Given the description of an element on the screen output the (x, y) to click on. 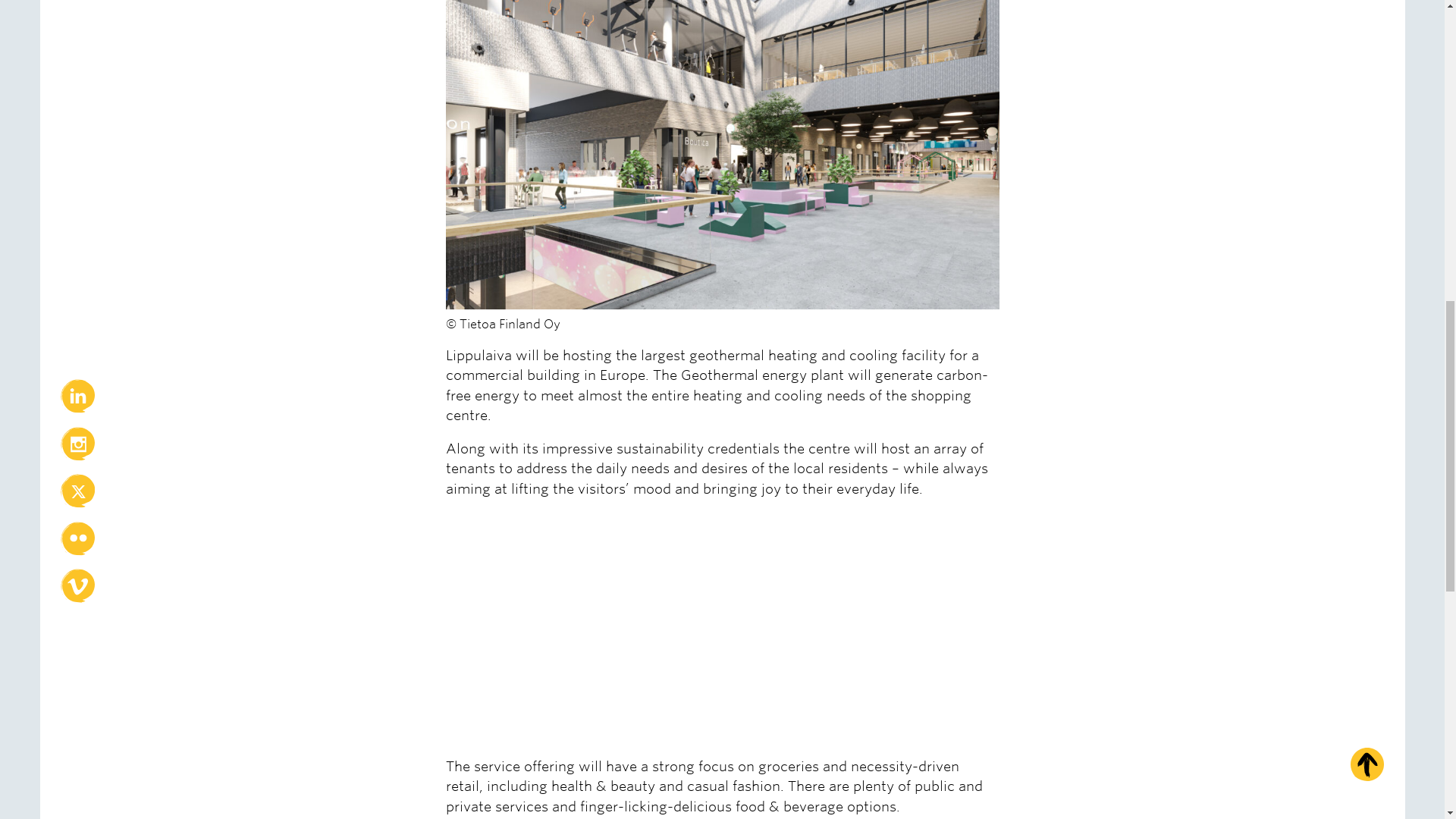
YouTube video player (657, 631)
